Given the description of an element on the screen output the (x, y) to click on. 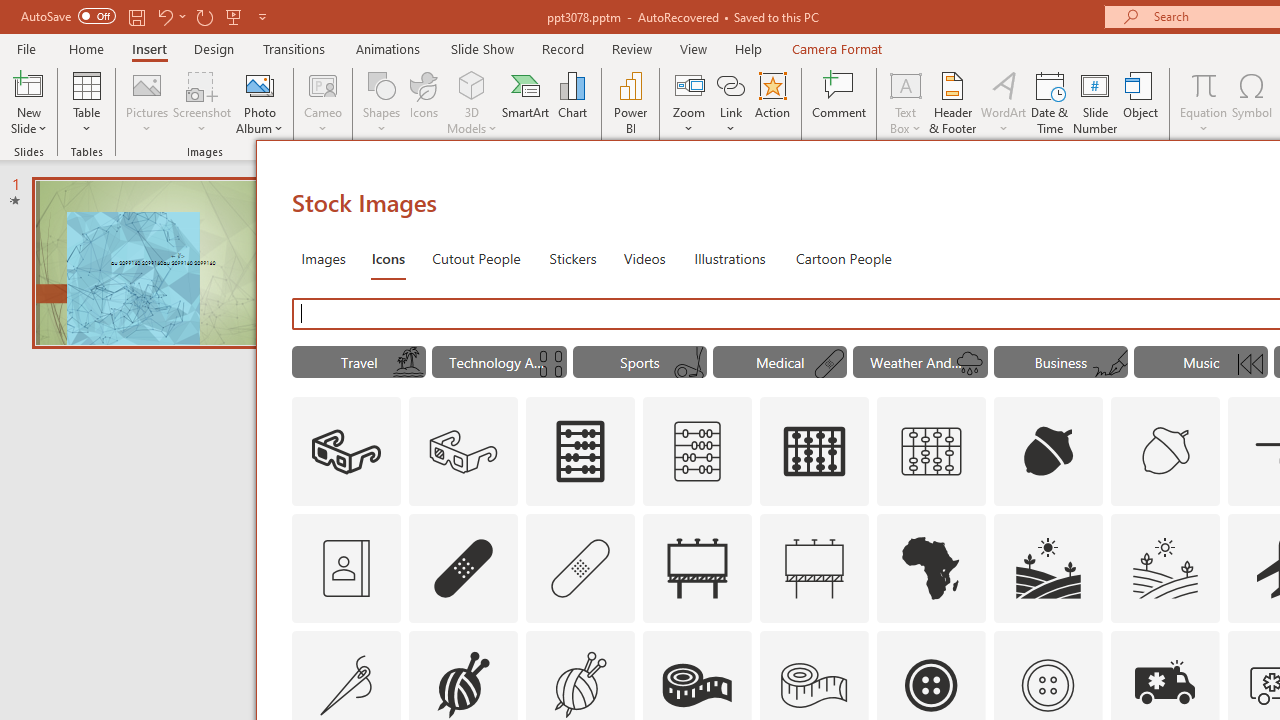
AutomationID: Icons_AddressBook_RTL_M (346, 568)
Screenshot (202, 102)
AutomationID: Icons_Advertising (697, 568)
Cutout People (477, 258)
